Given the description of an element on the screen output the (x, y) to click on. 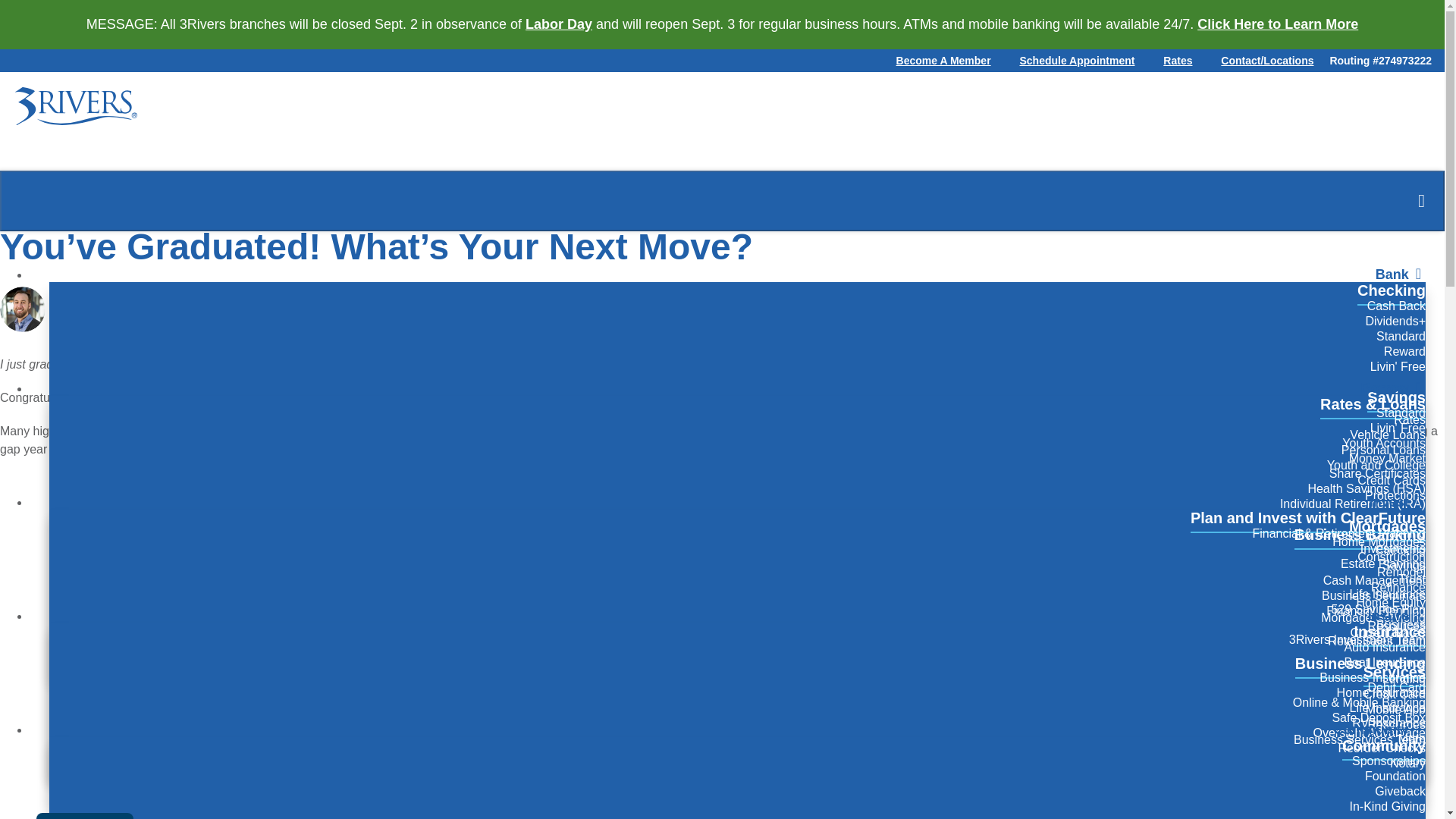
Livin' Free (1397, 427)
Schedule Appointment (1077, 60)
Livin' Free (1397, 364)
Cash Management (1374, 579)
Share Certificates (1377, 473)
Financial Planning (1375, 609)
3Rivers Federal Credit Union (75, 105)
Debit Card (1396, 686)
Rates (1177, 60)
Youth Accounts (1383, 442)
